Given the description of an element on the screen output the (x, y) to click on. 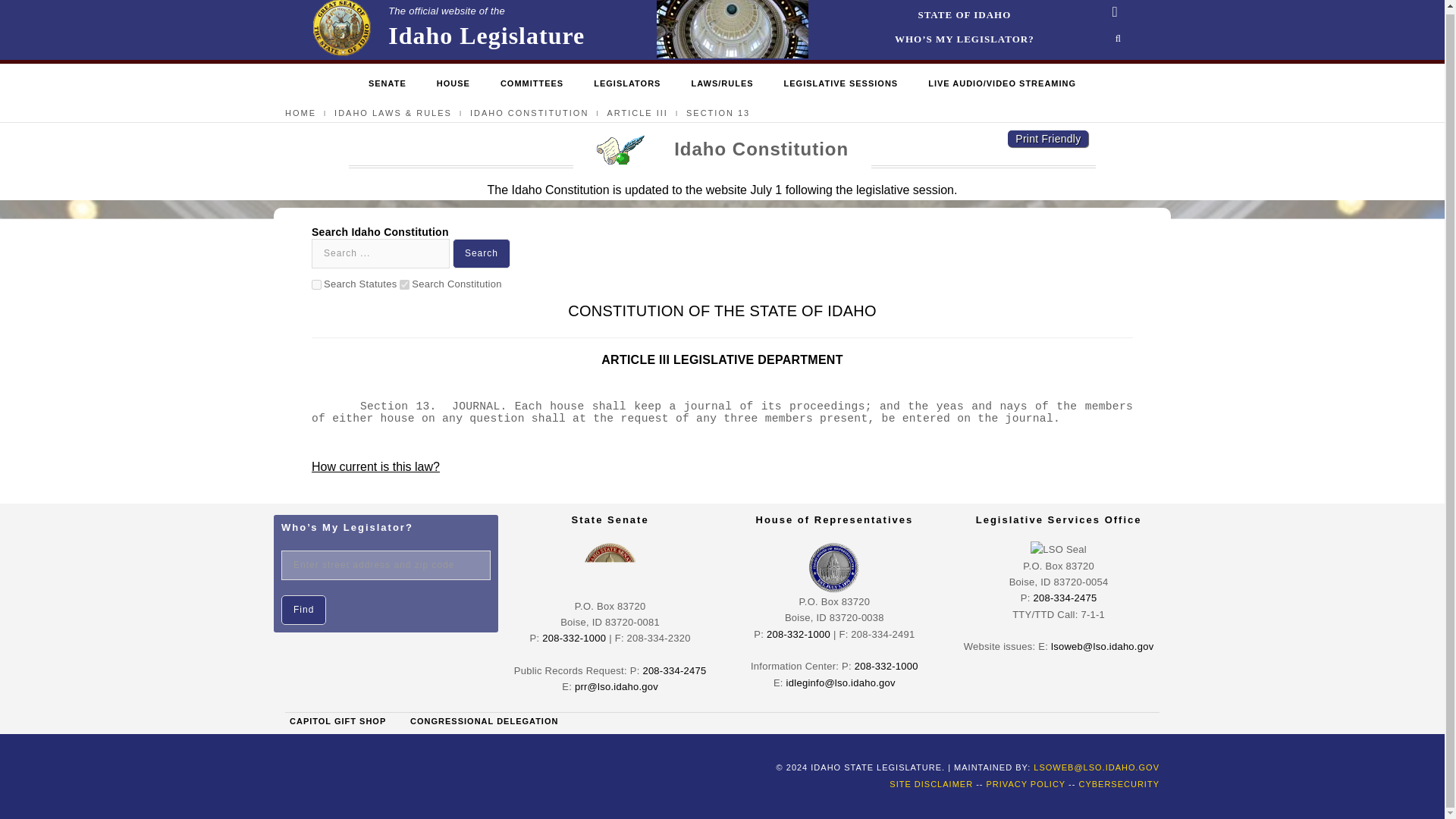
Search (481, 253)
Browse to: ARTICLE III (636, 112)
Browse to: Idaho Constitution (446, 29)
COMMITTEES (529, 112)
Find (531, 84)
idaho constitution (303, 609)
idaho statutes (403, 284)
HOUSE (316, 284)
LEGISLATORS (453, 84)
SENATE (627, 84)
STATE OF IDAHO (387, 84)
Browse to: Home (964, 15)
